Given the description of an element on the screen output the (x, y) to click on. 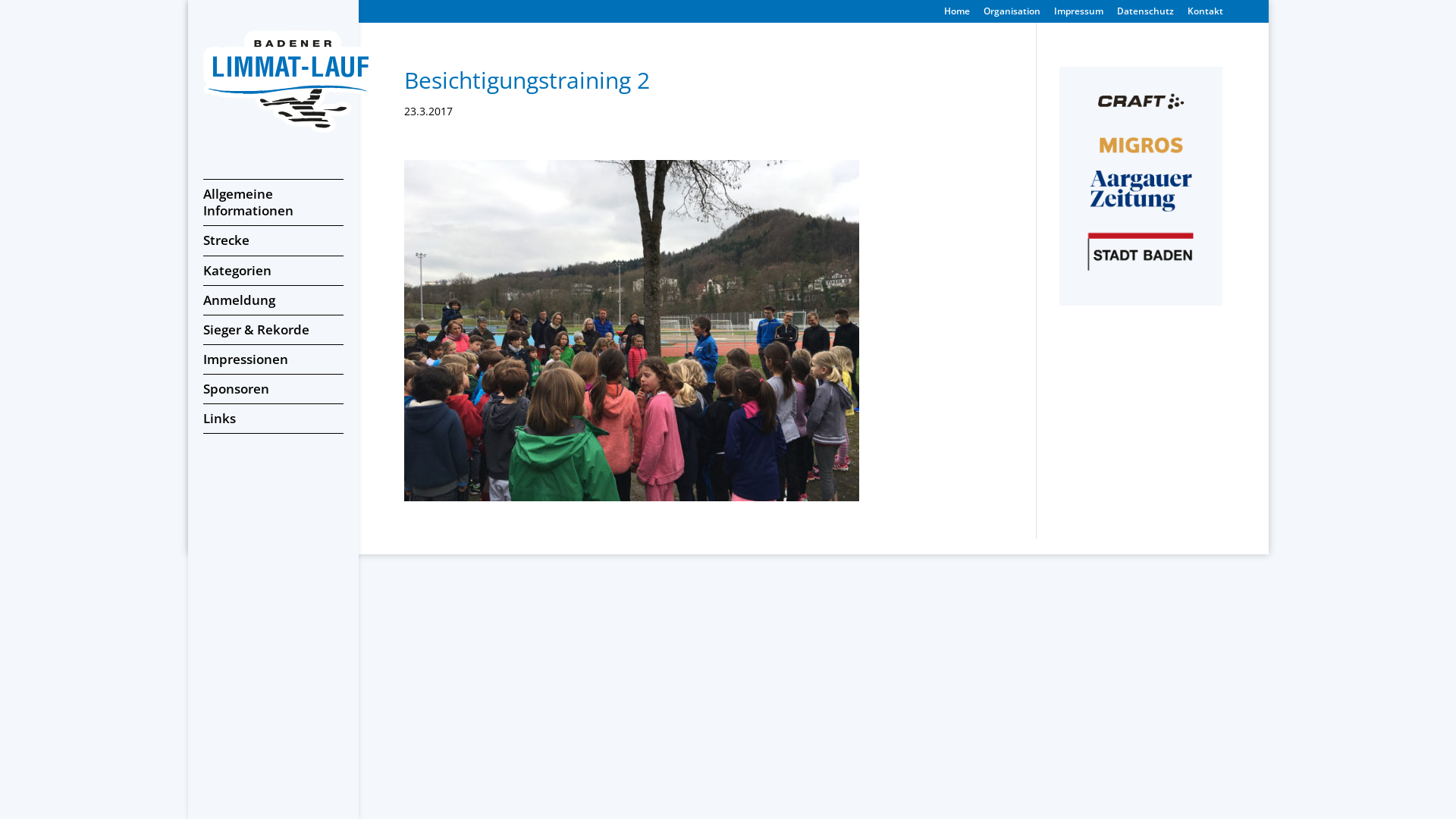
Kontakt Element type: text (1205, 14)
Allgemeine Informationen Element type: text (273, 202)
Sponsoren Element type: text (273, 388)
Anmeldung Element type: text (273, 299)
Strecke Element type: text (273, 240)
Organisation Element type: text (1010, 14)
Links Element type: text (273, 418)
Impressionen Element type: text (273, 359)
Sieger & Rekorde Element type: text (273, 329)
Home Element type: text (956, 14)
Kategorien Element type: text (273, 270)
Datenschutz Element type: text (1144, 14)
Impressum Element type: text (1078, 14)
